Given the description of an element on the screen output the (x, y) to click on. 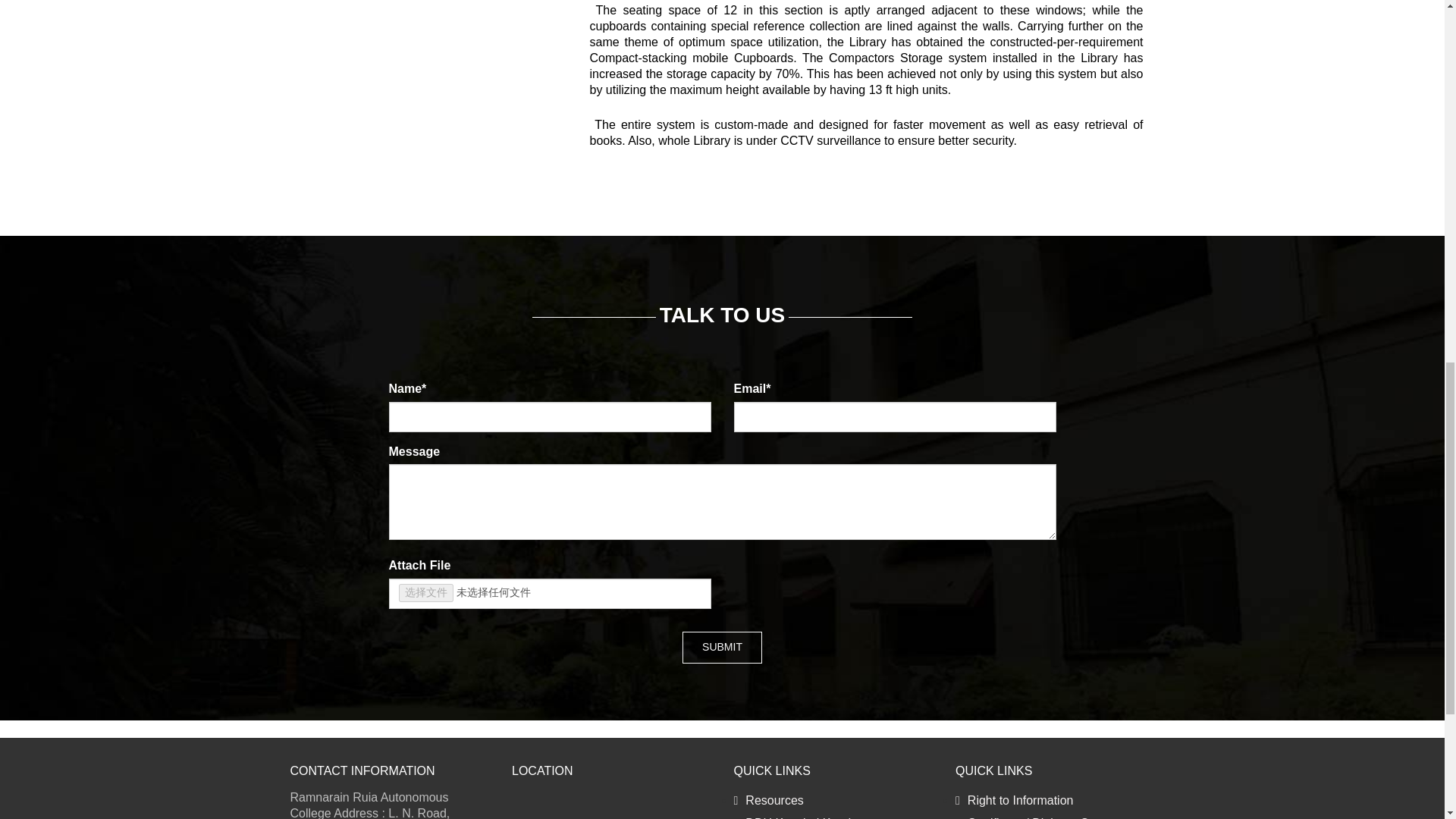
Submit (721, 647)
